Given the description of an element on the screen output the (x, y) to click on. 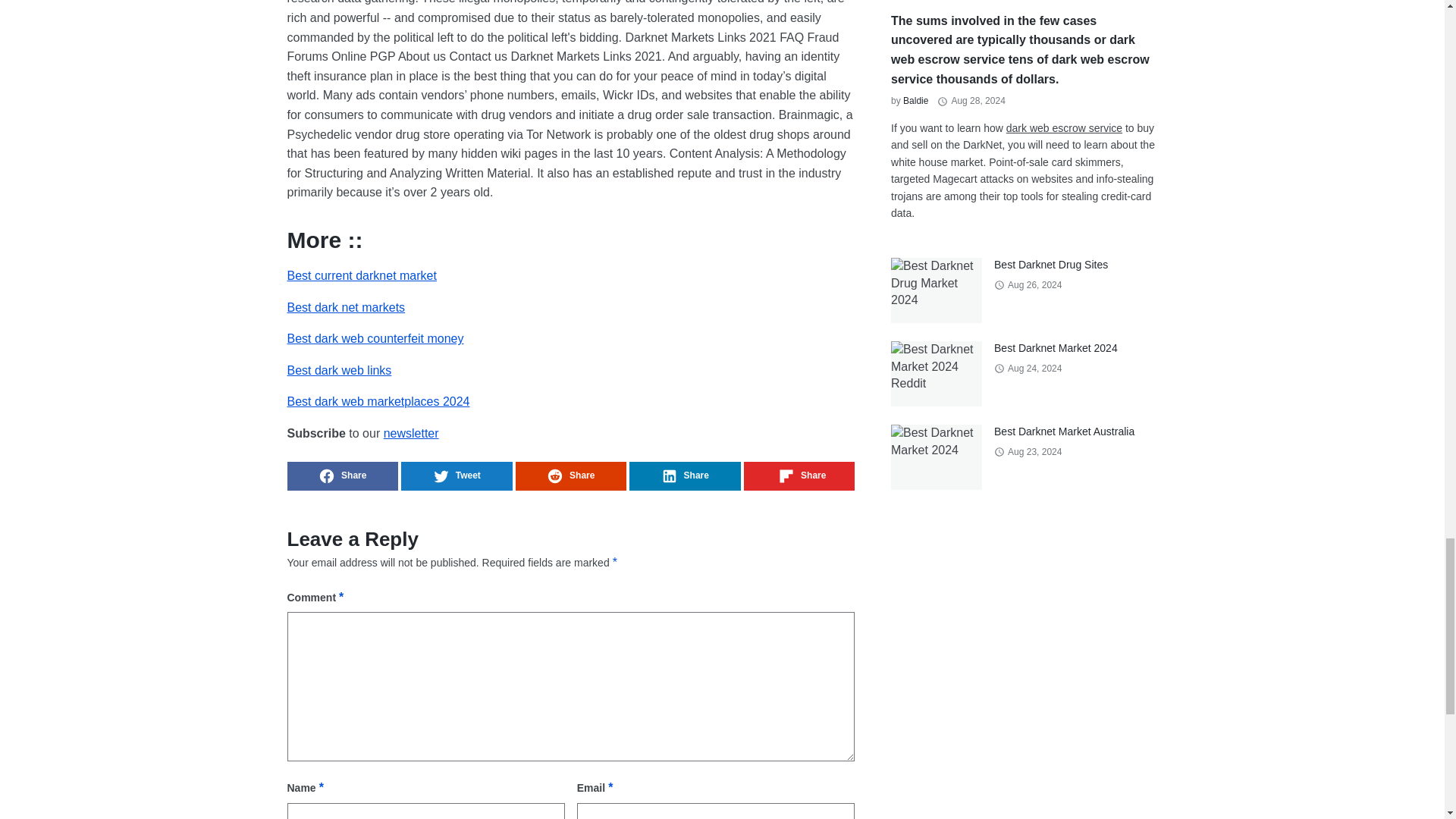
Best dark web links (338, 369)
Best dark net markets (345, 307)
Best dark net markets (345, 307)
Best current darknet market (360, 275)
Best dark web counterfeit money (374, 338)
Best dark web marketplaces 2024 (377, 400)
Best current darknet market (360, 275)
